Given the description of an element on the screen output the (x, y) to click on. 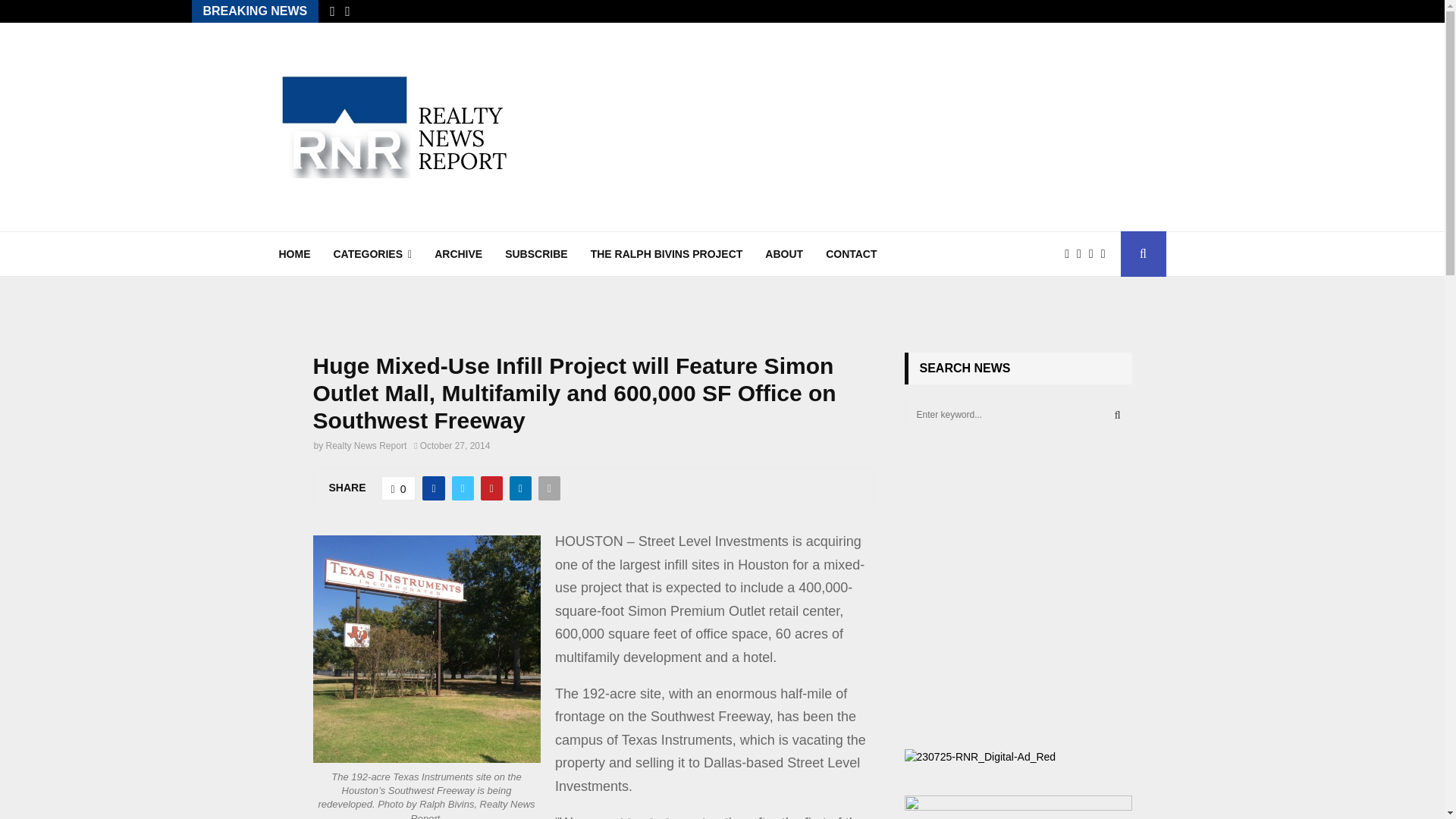
SUBSCRIBE (536, 253)
THE RALPH BIVINS PROJECT (666, 253)
ARCHIVE (457, 253)
CATEGORIES (372, 253)
CONTACT (850, 253)
Like (398, 487)
